Given the description of an element on the screen output the (x, y) to click on. 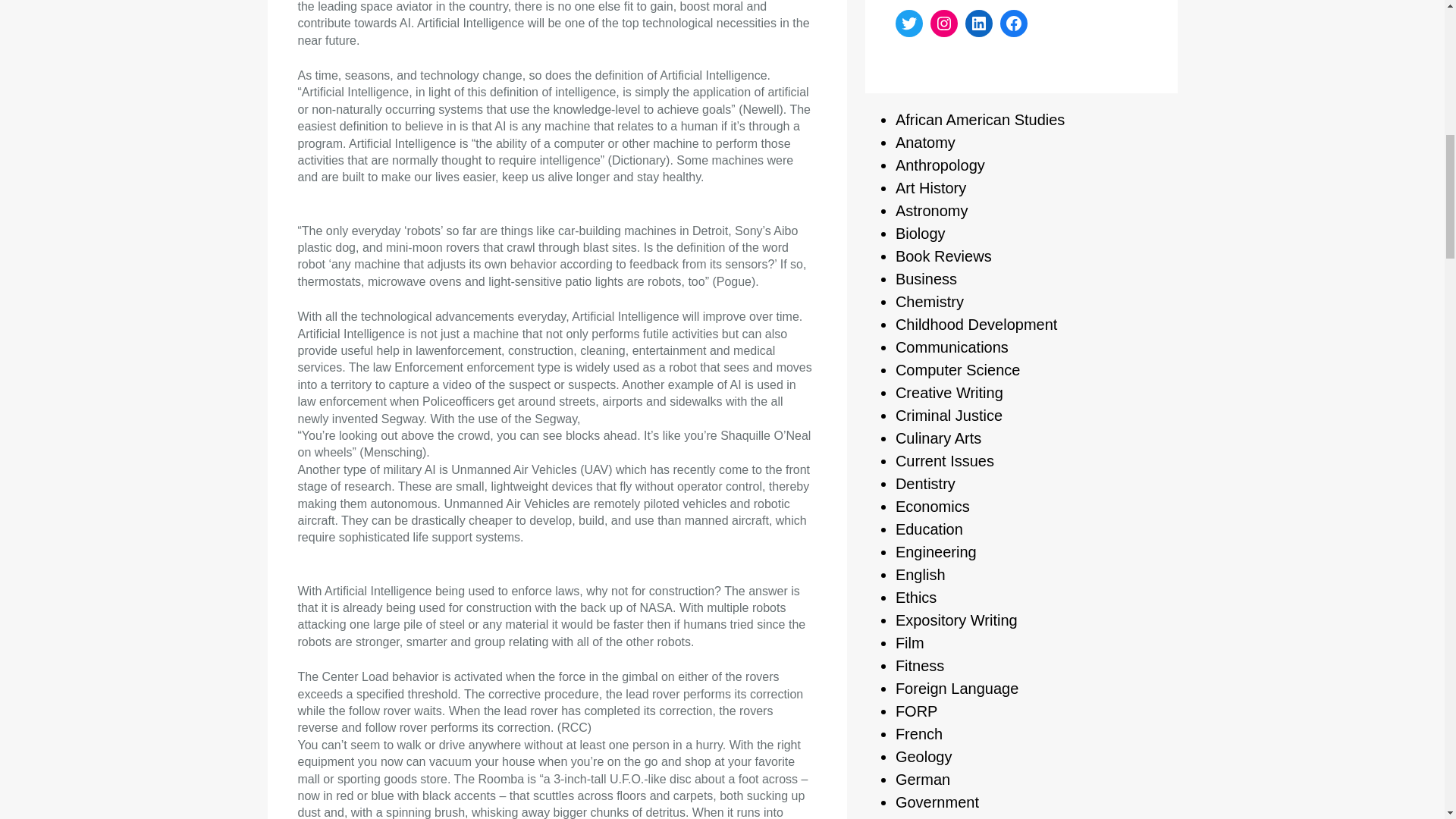
Book Reviews (943, 256)
Twitter (909, 22)
Biology (919, 233)
Communications (952, 347)
Culinary Arts (938, 437)
Anatomy (925, 142)
Creative Writing (949, 392)
Facebook (1013, 22)
African American Studies (979, 119)
LinkedIn (978, 22)
Business (925, 279)
Childhood Development (976, 324)
Criminal Justice (949, 415)
Computer Science (957, 369)
Instagram (944, 22)
